Given the description of an element on the screen output the (x, y) to click on. 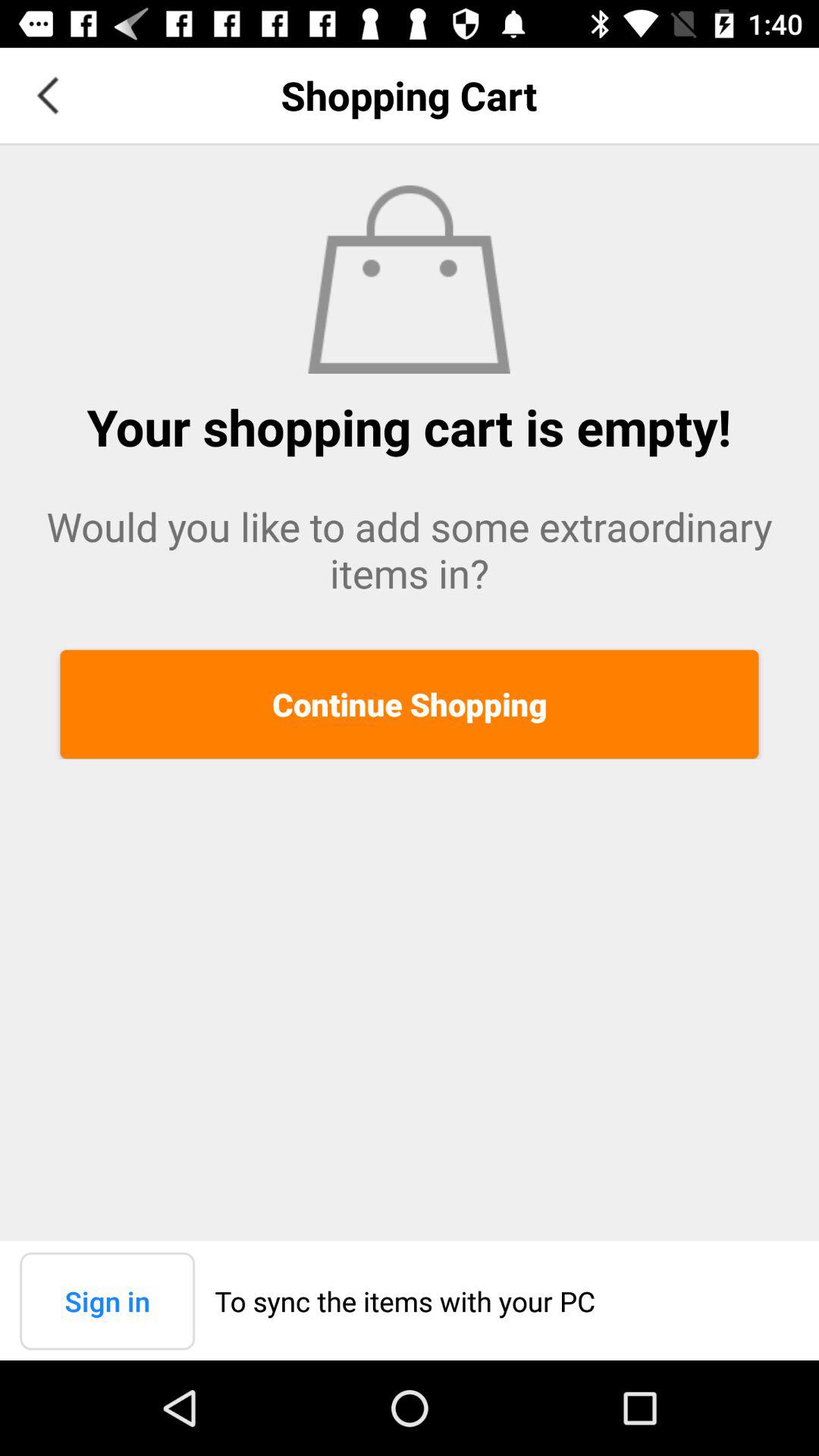
press the icon below would you like icon (409, 704)
